Given the description of an element on the screen output the (x, y) to click on. 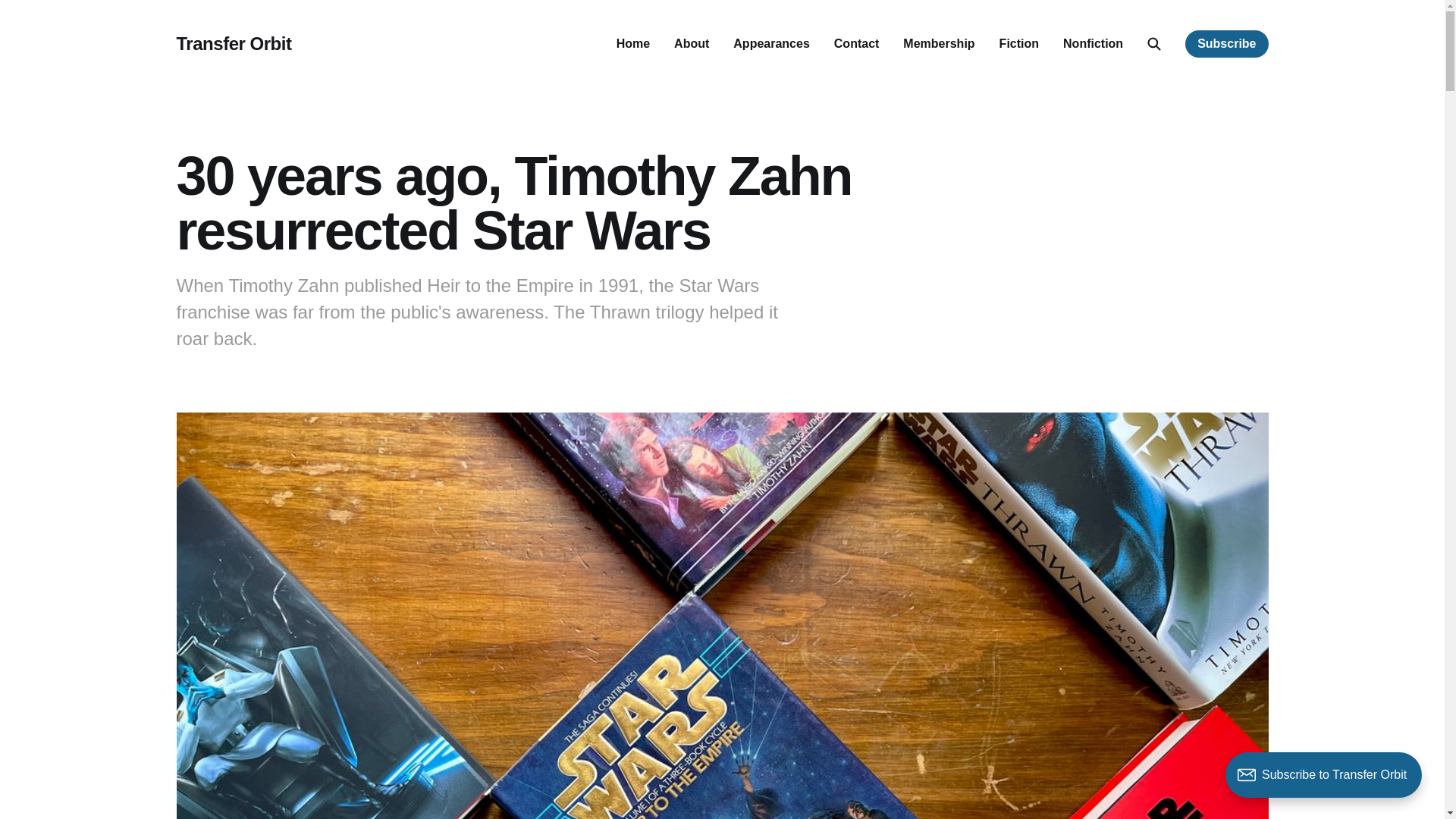
Subscribe (1226, 43)
Home (632, 42)
Fiction (1018, 42)
Membership (938, 42)
Nonfiction (1092, 42)
Appearances (771, 42)
About (691, 42)
Contact (856, 42)
Transfer Orbit (233, 44)
